Given the description of an element on the screen output the (x, y) to click on. 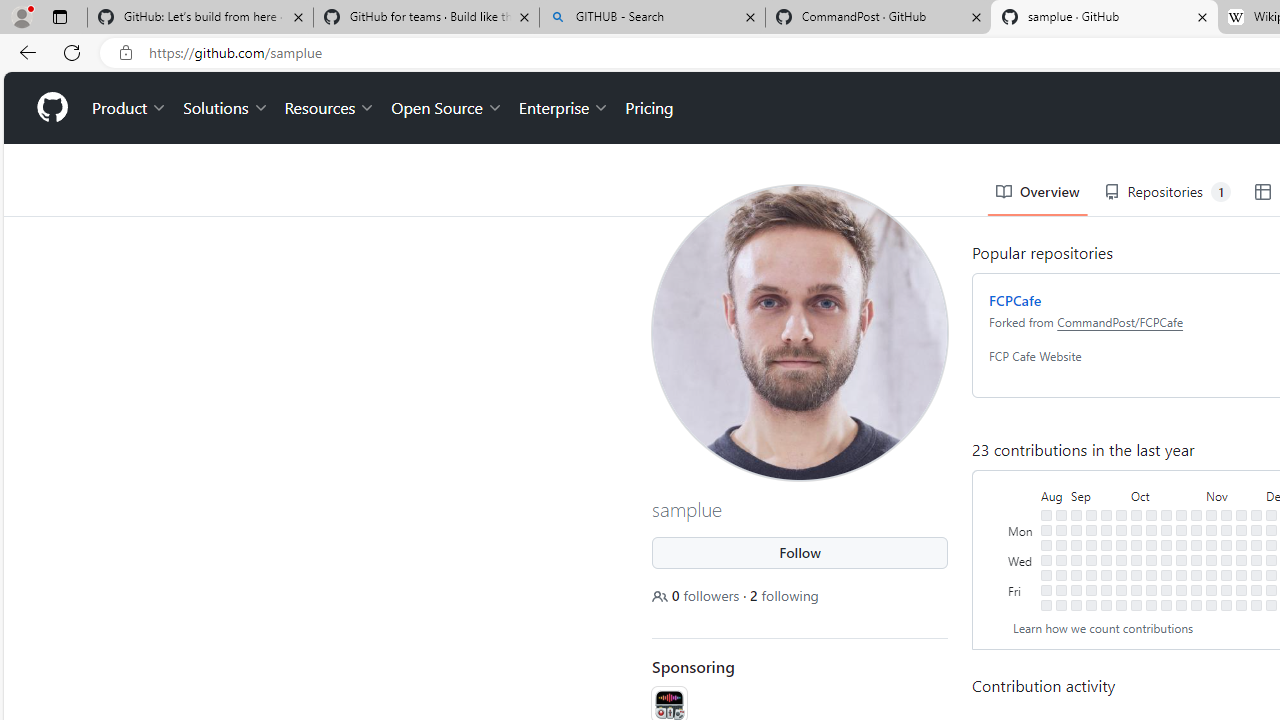
No contributions on September 30th. (1121, 605)
No contributions on November 12th. (1226, 515)
Learn how we count contributions (1103, 627)
Saturday (1022, 605)
No contributions on October 7th. (1136, 605)
No contributions on September 9th. (1076, 605)
Tuesday (1022, 544)
No contributions on October 9th. (1151, 529)
No contributions on September 27th. (1121, 559)
No contributions on September 19th. (1106, 544)
No contributions on August 26th. (1046, 605)
No contributions on October 20th. (1166, 589)
No contributions on November 24th. (1241, 589)
No contributions on October 11th. (1151, 559)
No contributions on October 31st. (1195, 544)
